Given the description of an element on the screen output the (x, y) to click on. 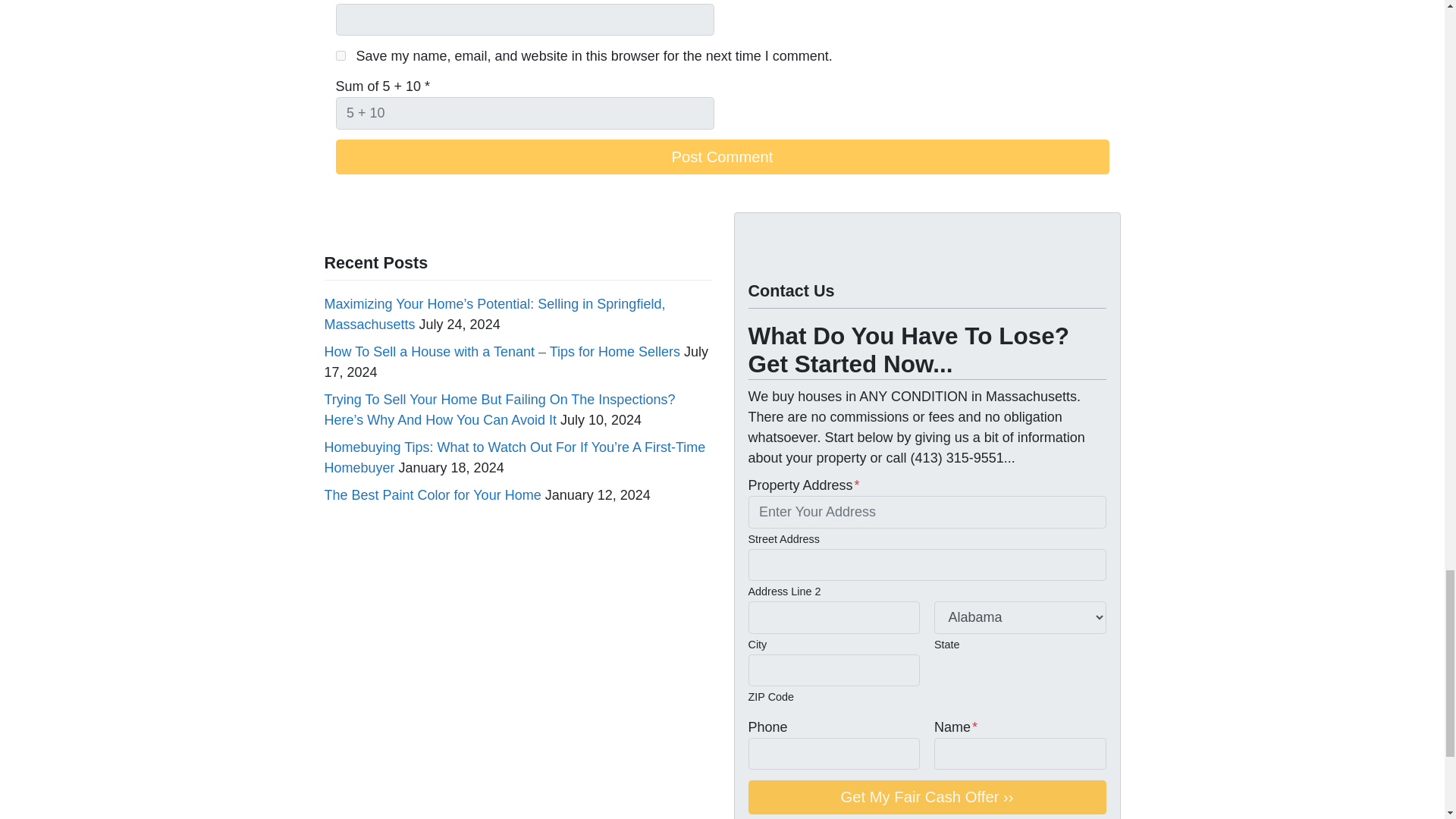
The Best Paint Color for Your Home (432, 494)
Post Comment (721, 156)
yes (339, 55)
Post Comment (721, 156)
